Given the description of an element on the screen output the (x, y) to click on. 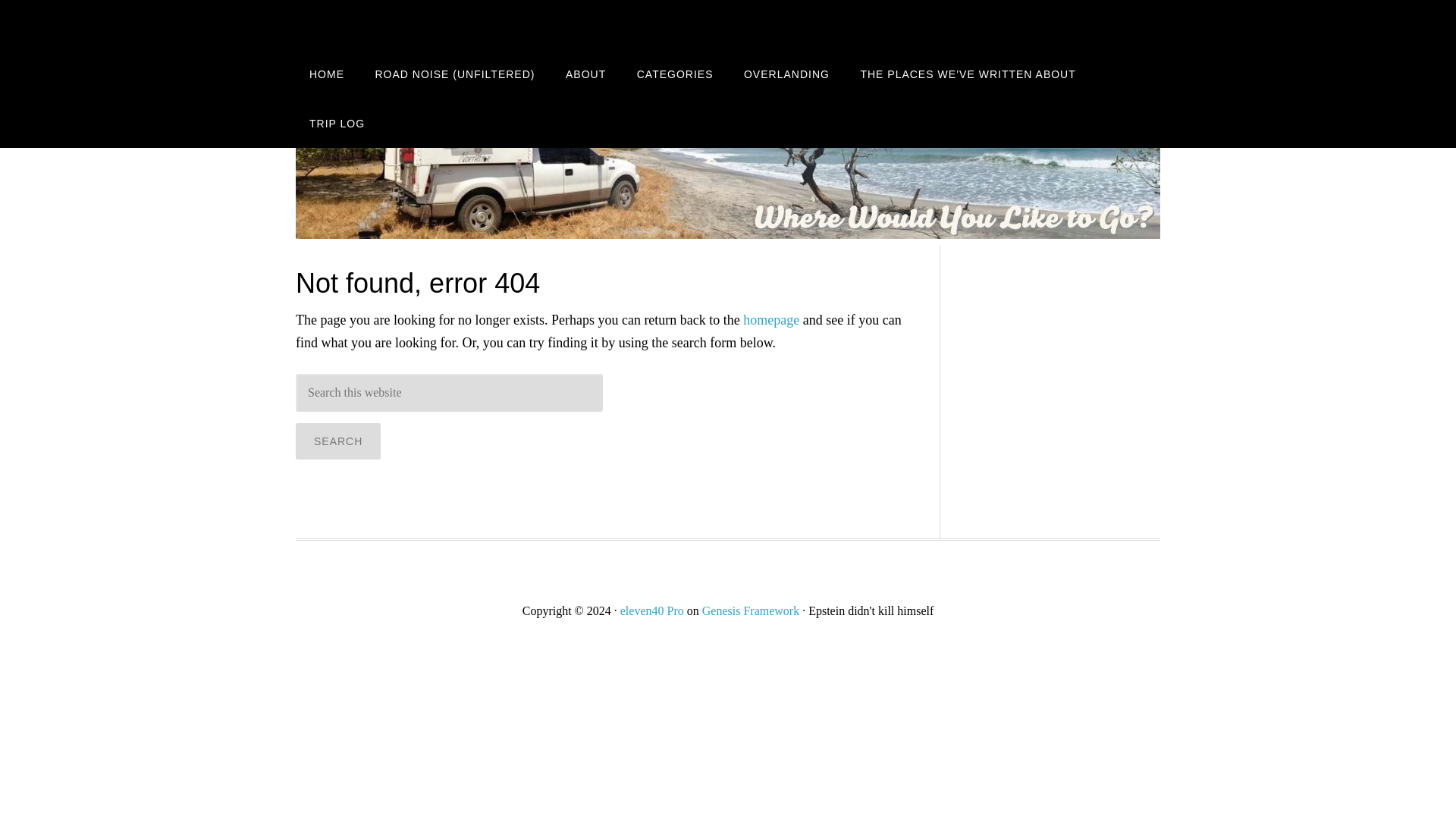
Search (337, 441)
THE LIFE NOMADIC (416, 24)
Genesis Framework (750, 610)
Search (337, 441)
OVERLANDING (786, 73)
CATEGORIES (674, 73)
homepage (770, 319)
TRIP LOG (336, 123)
HOME (326, 73)
eleven40 Pro (652, 610)
